Given the description of an element on the screen output the (x, y) to click on. 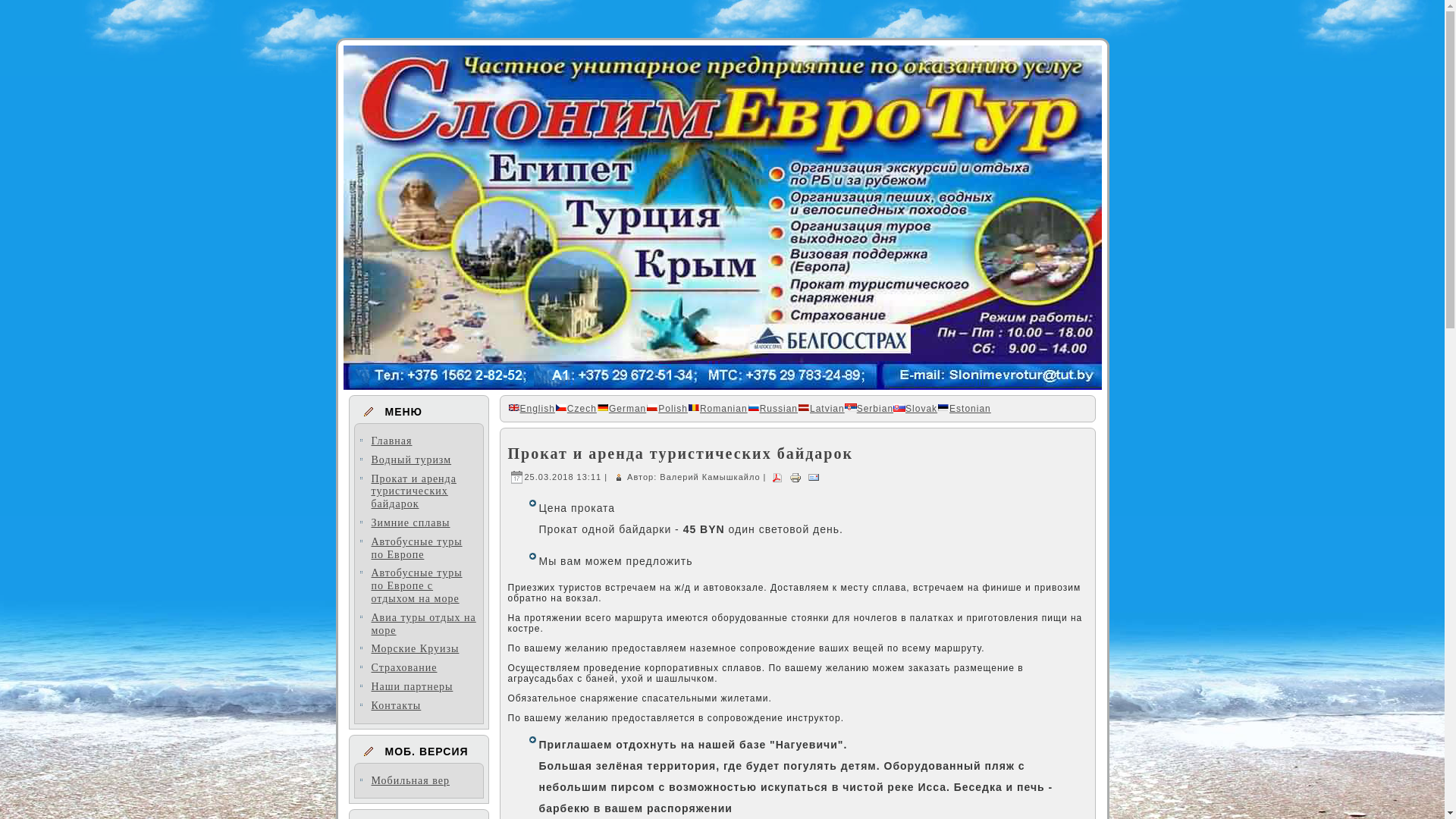
PDF Element type: hover (776, 476)
Slovak Element type: text (915, 408)
Romanian Element type: text (717, 408)
Russian Element type: text (772, 408)
Polish Element type: text (666, 408)
German Element type: text (621, 408)
Latvian Element type: text (820, 408)
E-mail Element type: hover (813, 476)
English Element type: text (531, 408)
Estonian Element type: text (964, 408)
Serbian Element type: text (868, 408)
Czech Element type: text (575, 408)
